Given the description of an element on the screen output the (x, y) to click on. 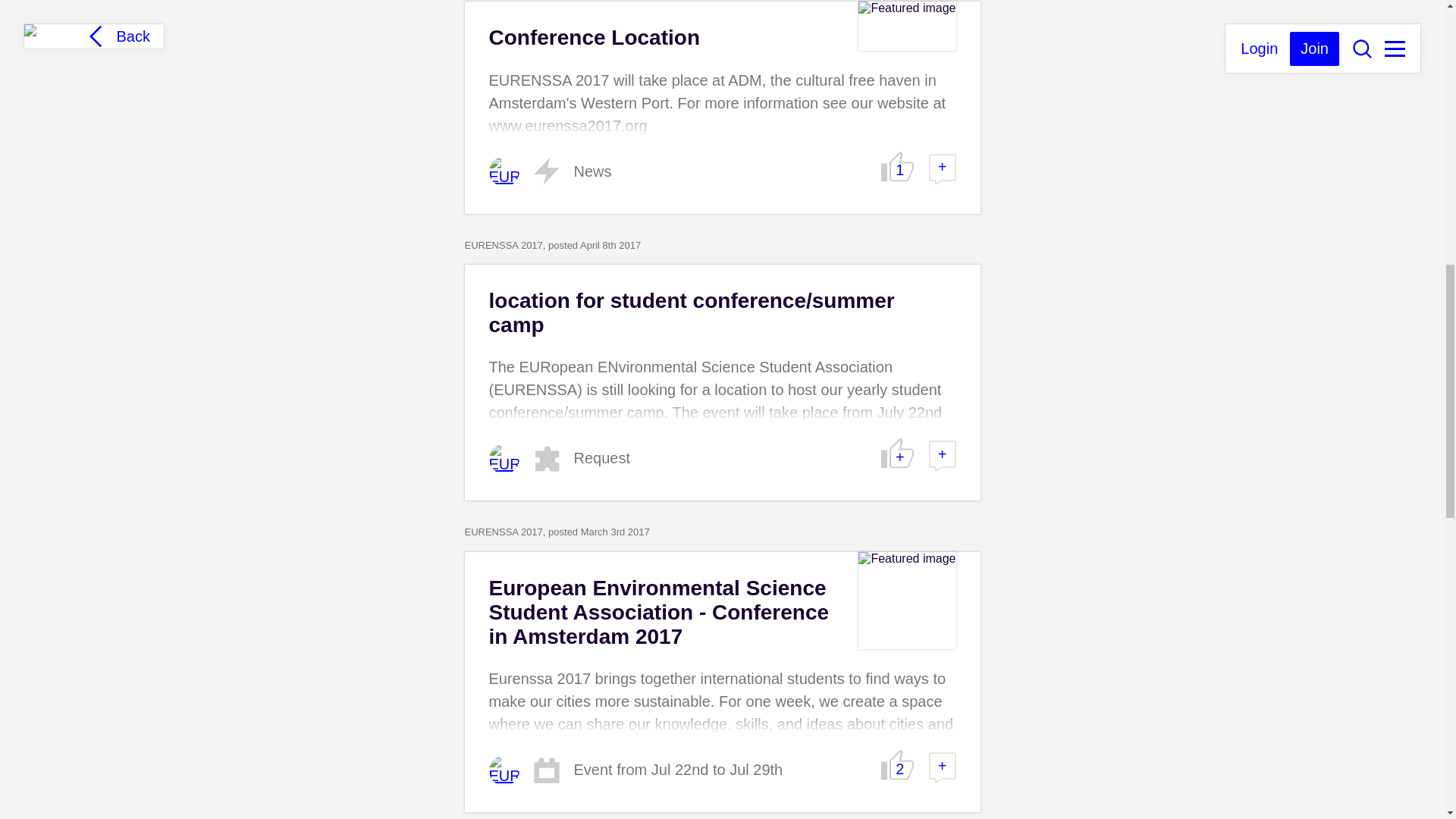
2 people liked this (897, 765)
EURENSSA 2017 (502, 458)
0 people liked this (897, 453)
1 person liked this (897, 165)
EURENSSA 2017 (502, 171)
Conference Location (592, 37)
EURENSSA 2017 (502, 770)
www.eurenssa2017.org (566, 125)
